Given the description of an element on the screen output the (x, y) to click on. 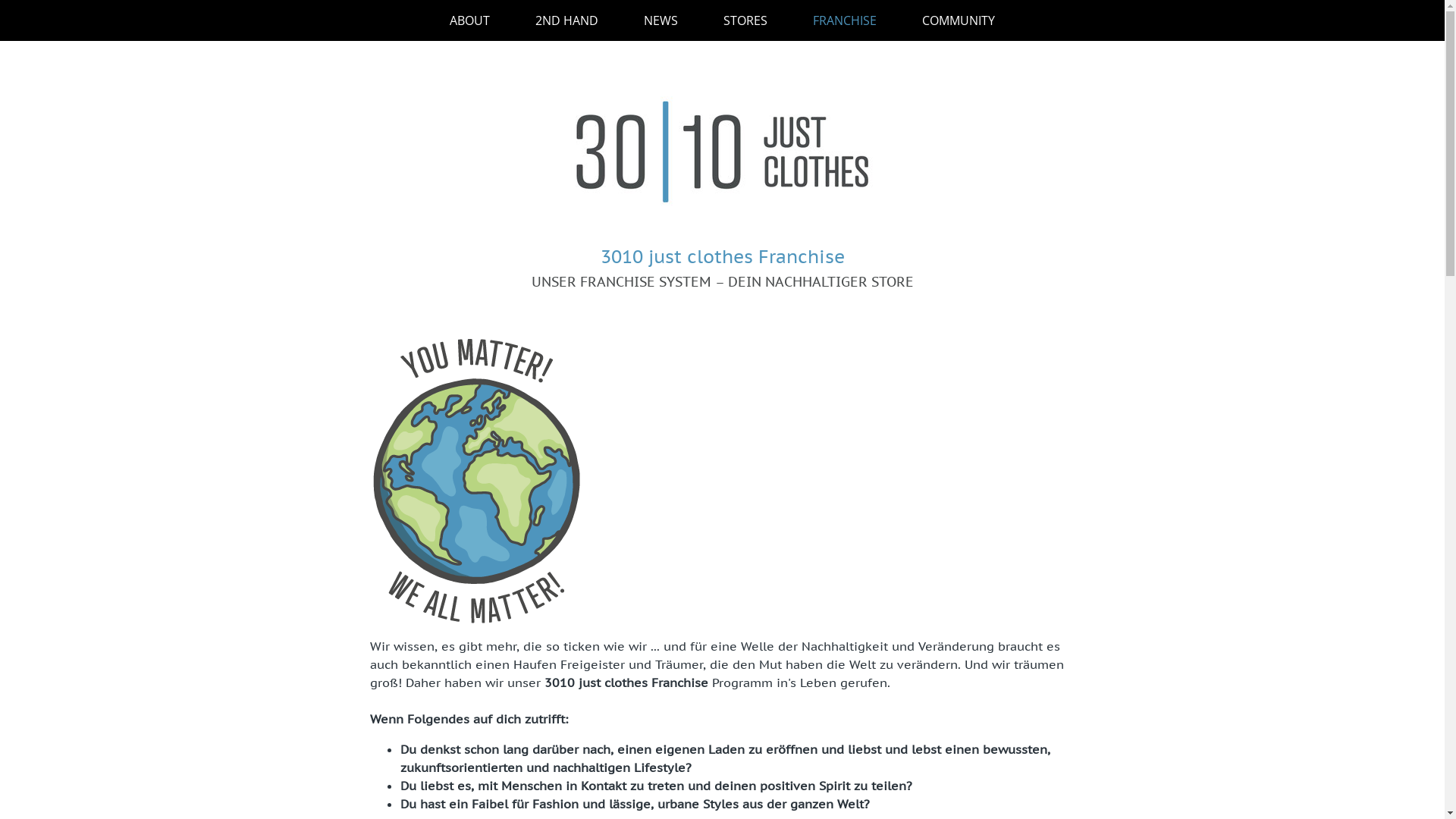
FRANCHISE Element type: text (844, 20)
NEWS Element type: text (660, 20)
ABOUT Element type: text (469, 20)
COMMUNITY Element type: text (958, 20)
STORES Element type: text (745, 20)
2ND HAND Element type: text (566, 20)
